Given the description of an element on the screen output the (x, y) to click on. 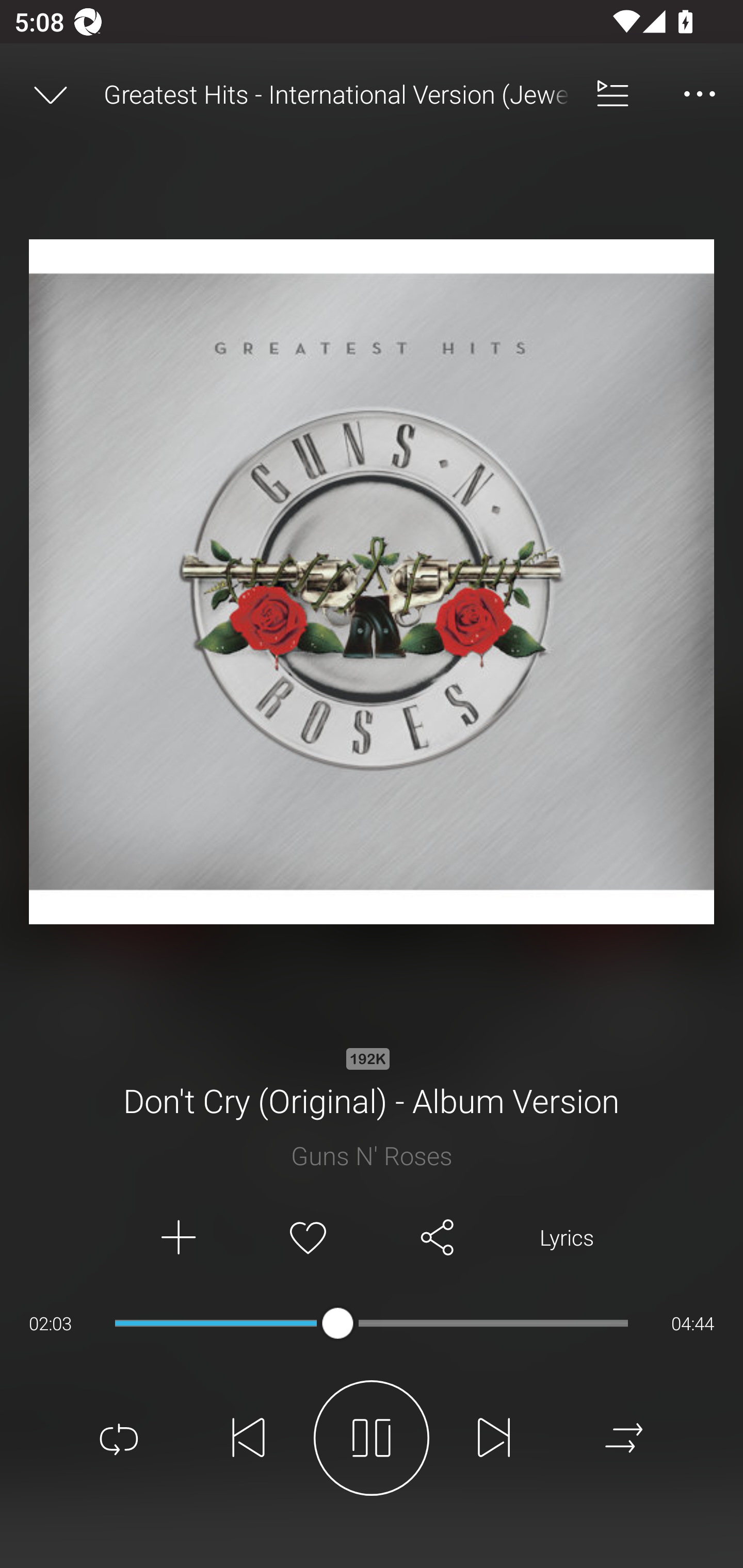
縮小播放介面 (50, 93)
現正播放清單 (612, 93)
更多操作選項 (699, 93)
Don't Cry (371, 1113)
Guns N' Roses (371, 1155)
加入到新歌單 (177, 1237)
加入收藏, 未加入 (307, 1237)
Lyrics (566, 1237)
暫停播放 (371, 1437)
不重複播放 (118, 1438)
播放前一首 (248, 1438)
播放下一首 (494, 1438)
循序播放 (624, 1438)
